Given the description of an element on the screen output the (x, y) to click on. 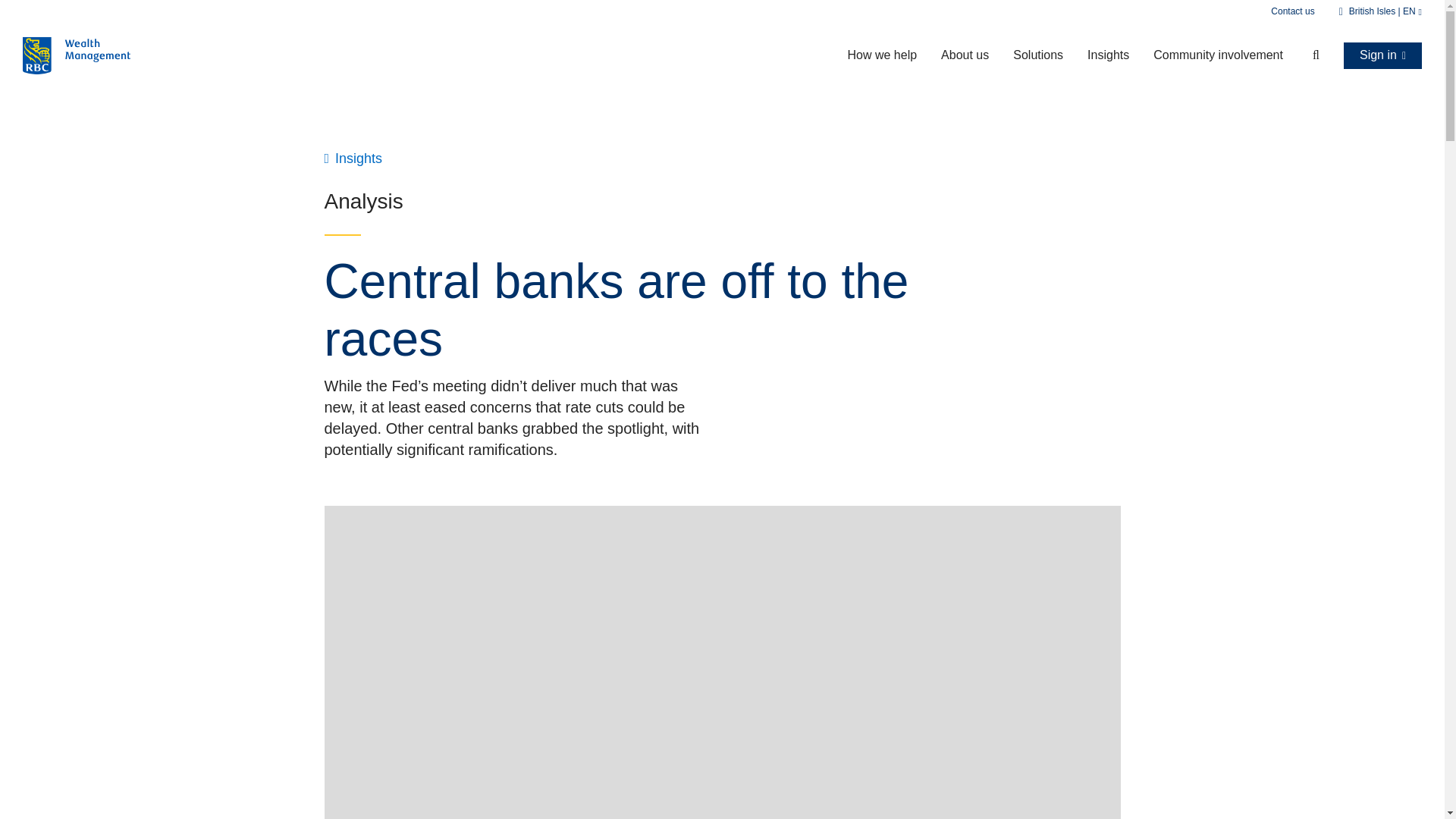
Contact us (1292, 10)
Community involvement (1218, 55)
Insights (1108, 55)
About us (964, 55)
Sign in (1382, 55)
Solutions (1038, 55)
Search (1307, 55)
How we help (881, 55)
